Given the description of an element on the screen output the (x, y) to click on. 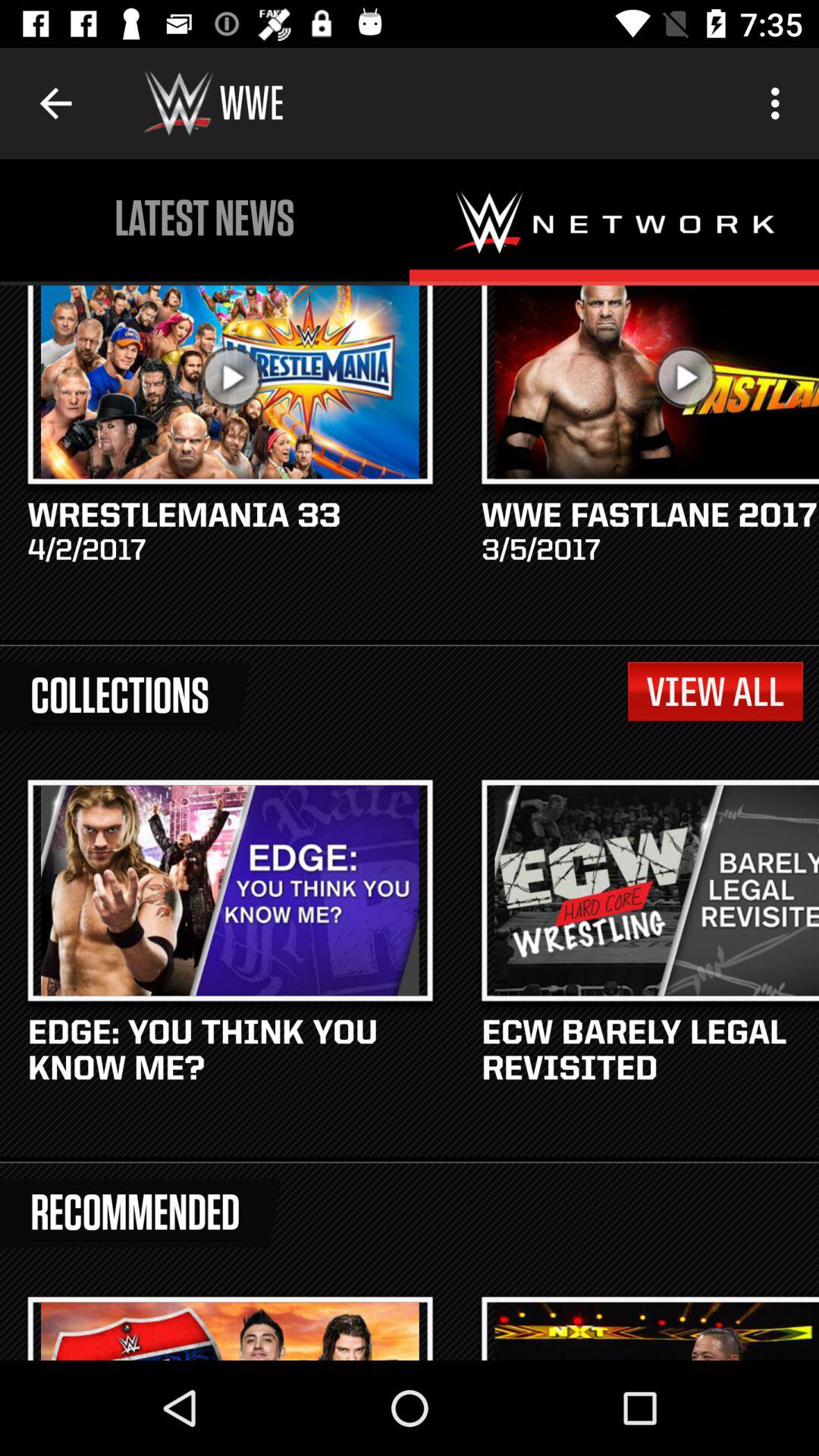
select the icon next to the latest news item (779, 103)
